Given the description of an element on the screen output the (x, y) to click on. 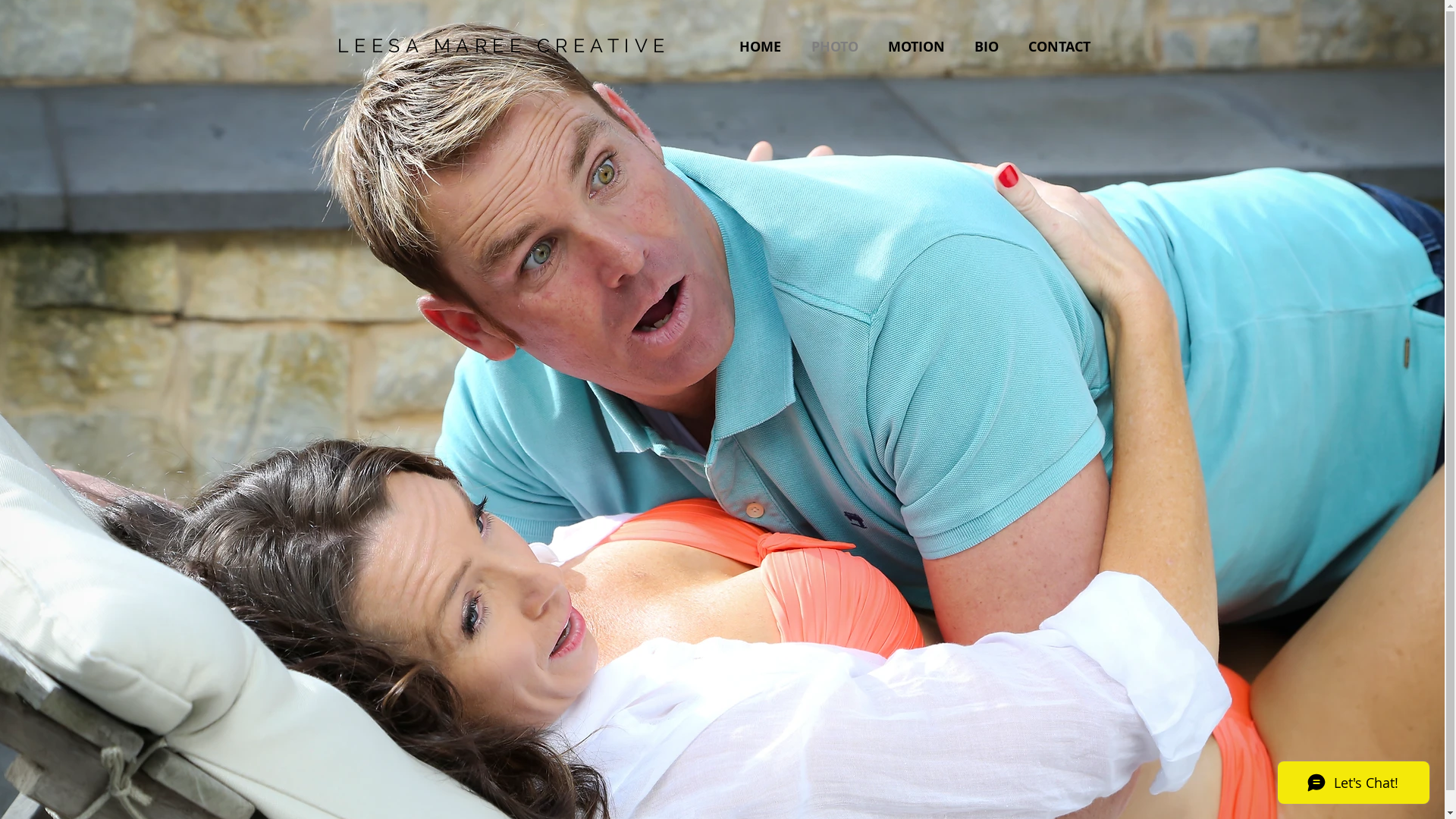
CONTACT Element type: text (1061, 46)
LEESA MAREE CREATIVE Element type: text (502, 44)
BIO Element type: text (989, 46)
PHOTO Element type: text (837, 46)
MOTION Element type: text (919, 46)
HOME Element type: text (764, 46)
